Given the description of an element on the screen output the (x, y) to click on. 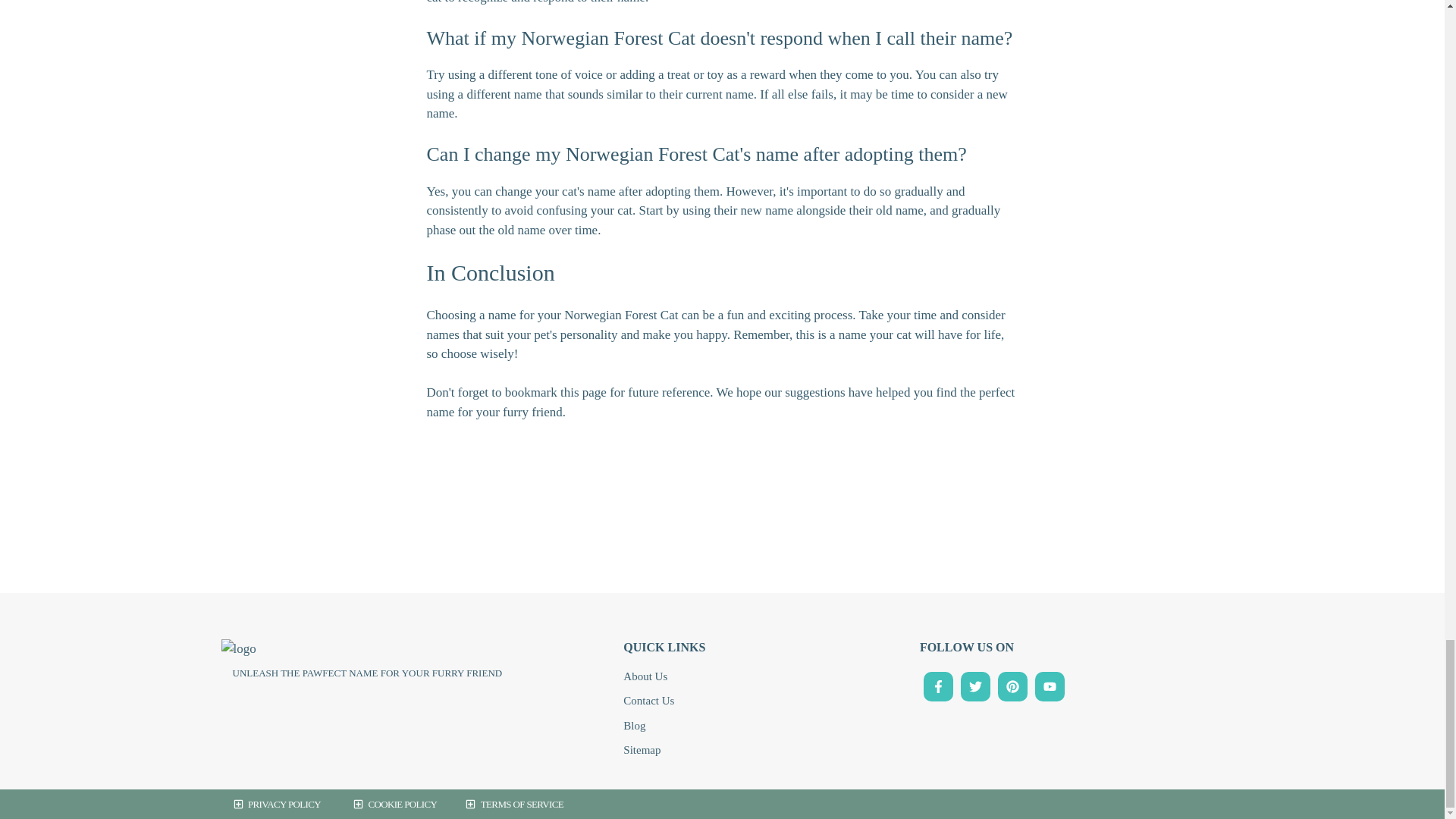
pawfect-names-header-logo.png (238, 649)
